Given the description of an element on the screen output the (x, y) to click on. 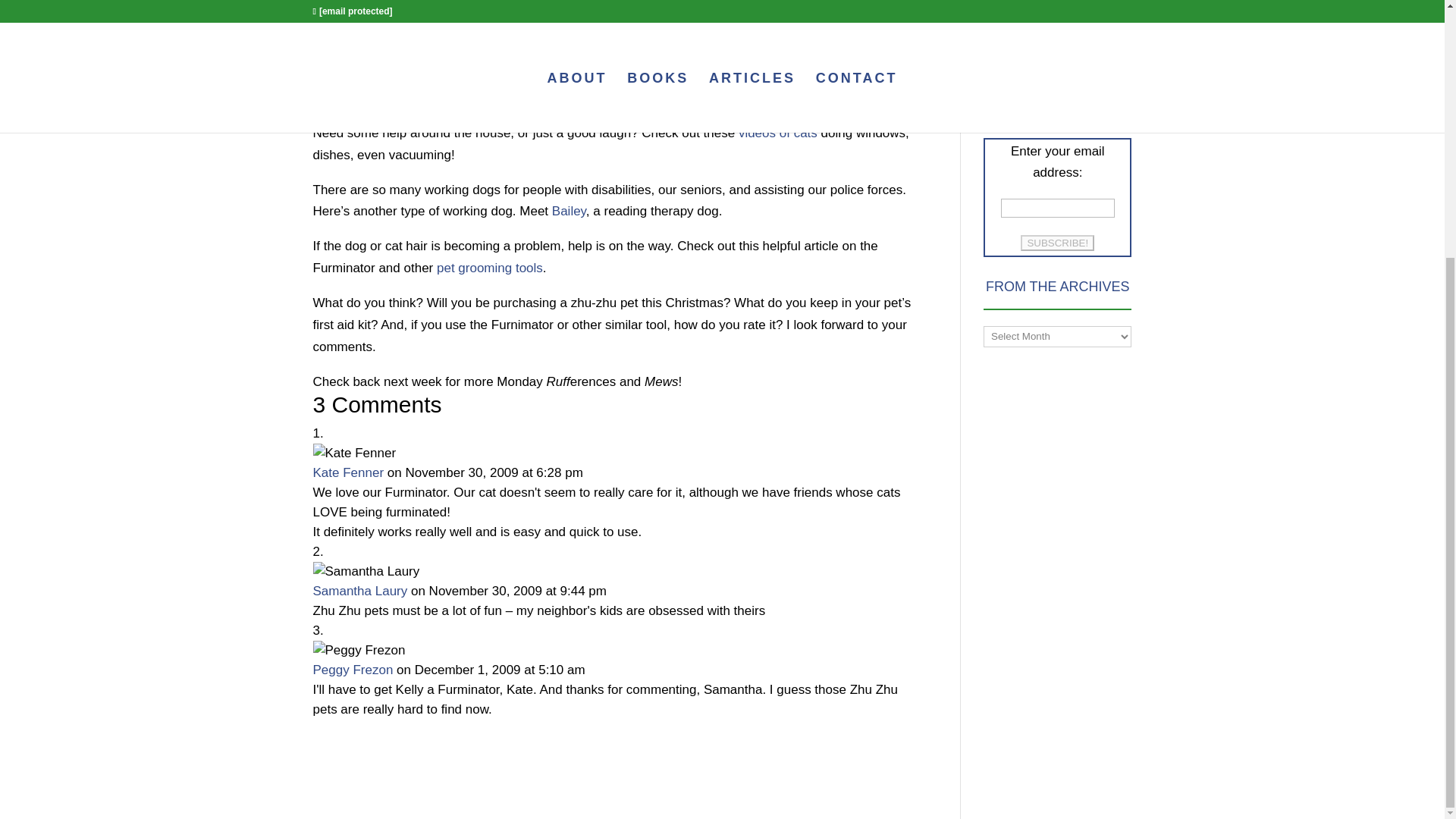
pet grooming tools (487, 268)
videos of cats (777, 133)
Kate Fenner (348, 472)
Peggy Frezon (353, 669)
SUBSCRIBE! (1057, 242)
Bailey (567, 210)
Samantha Laury (360, 590)
first aid kit (819, 19)
SUBSCRIBE! (1057, 242)
